Given the description of an element on the screen output the (x, y) to click on. 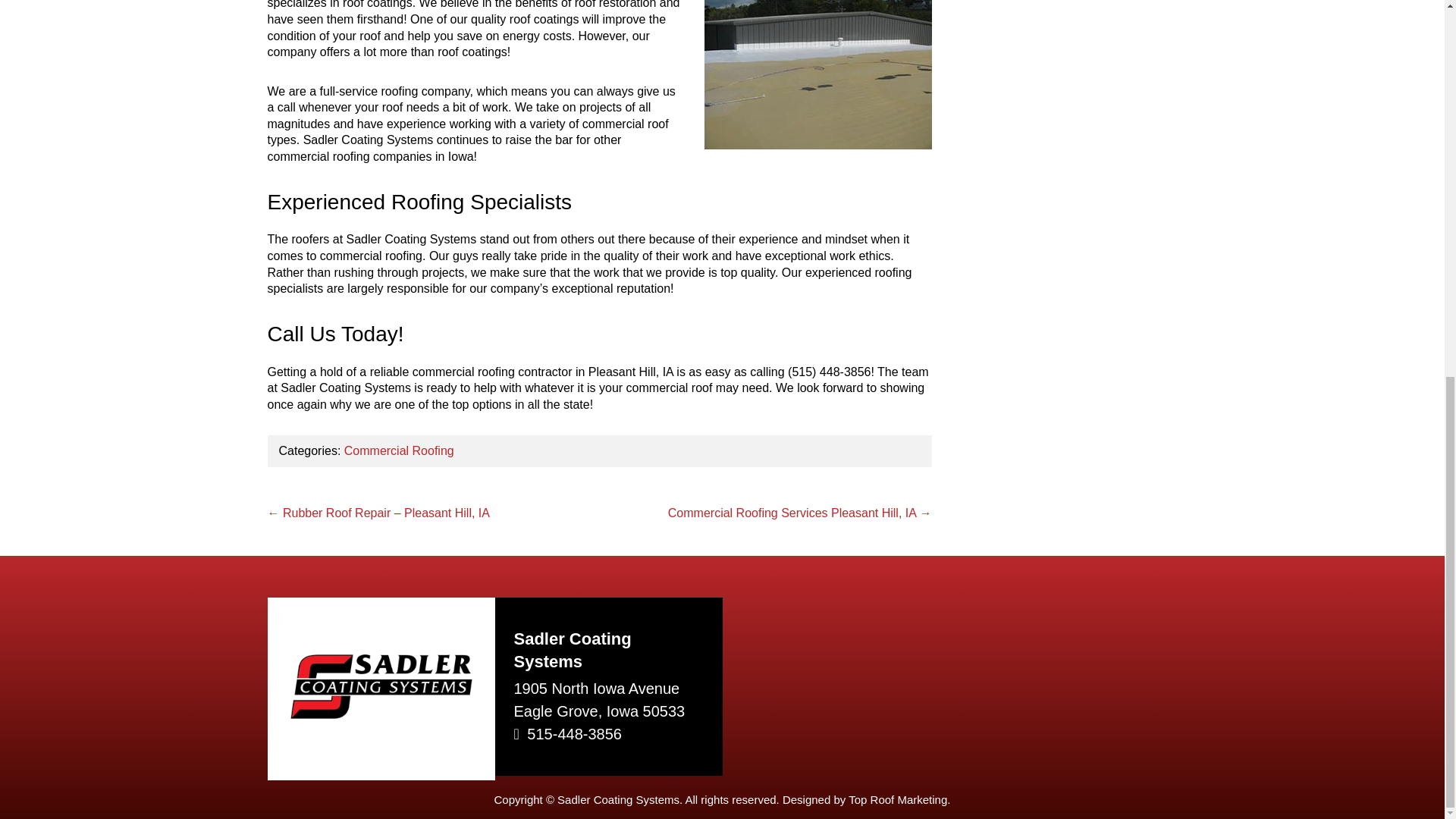
Sadler Coating Systems (380, 714)
Top Roof Marketing (897, 799)
Commercial Roofing (398, 450)
